Given the description of an element on the screen output the (x, y) to click on. 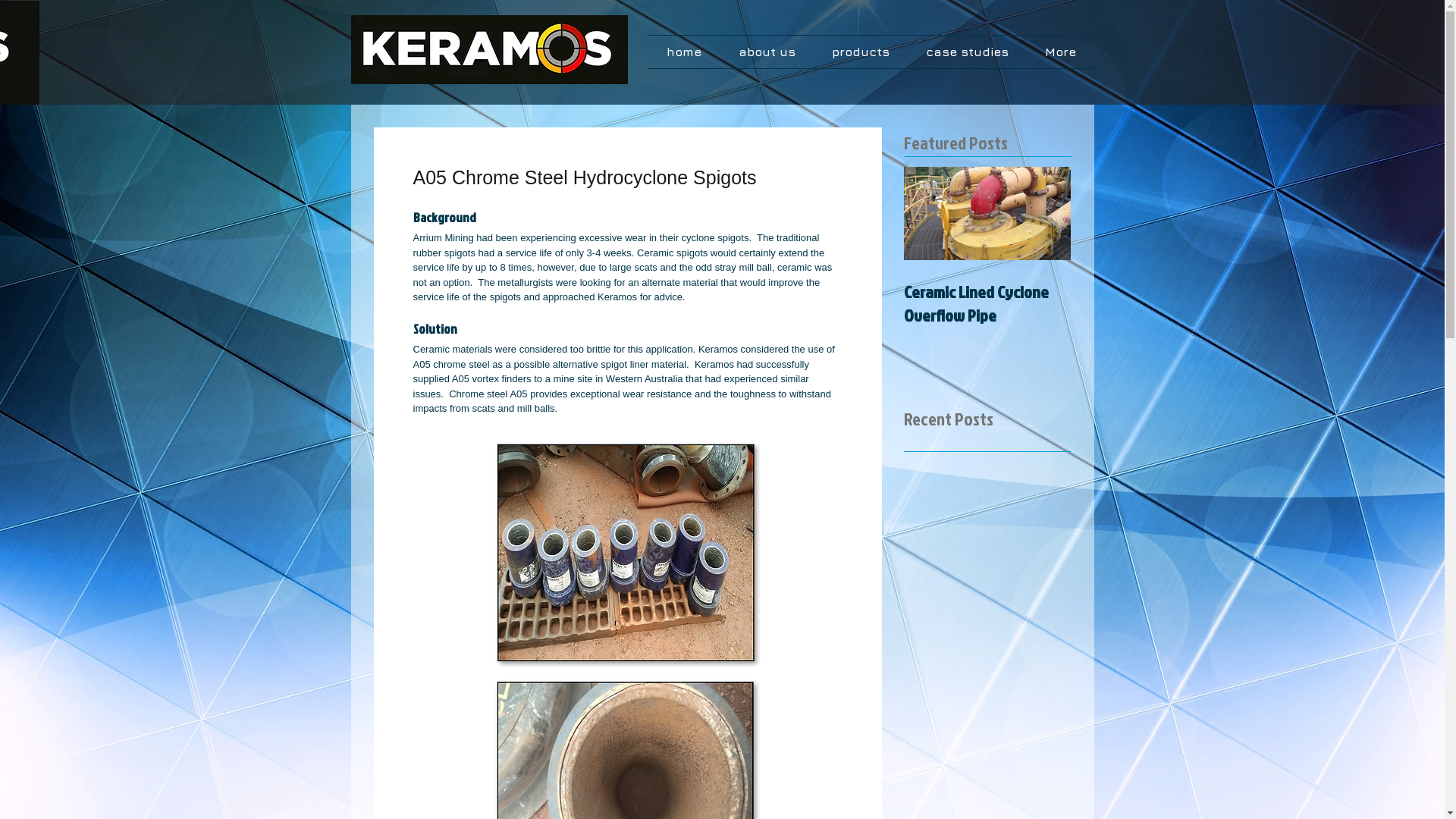
home Element type: text (683, 51)
about us Element type: text (766, 51)
case studies Element type: text (966, 51)
Ceramic Lined Cyclone Overflow Pipe Element type: text (986, 302)
